Given the description of an element on the screen output the (x, y) to click on. 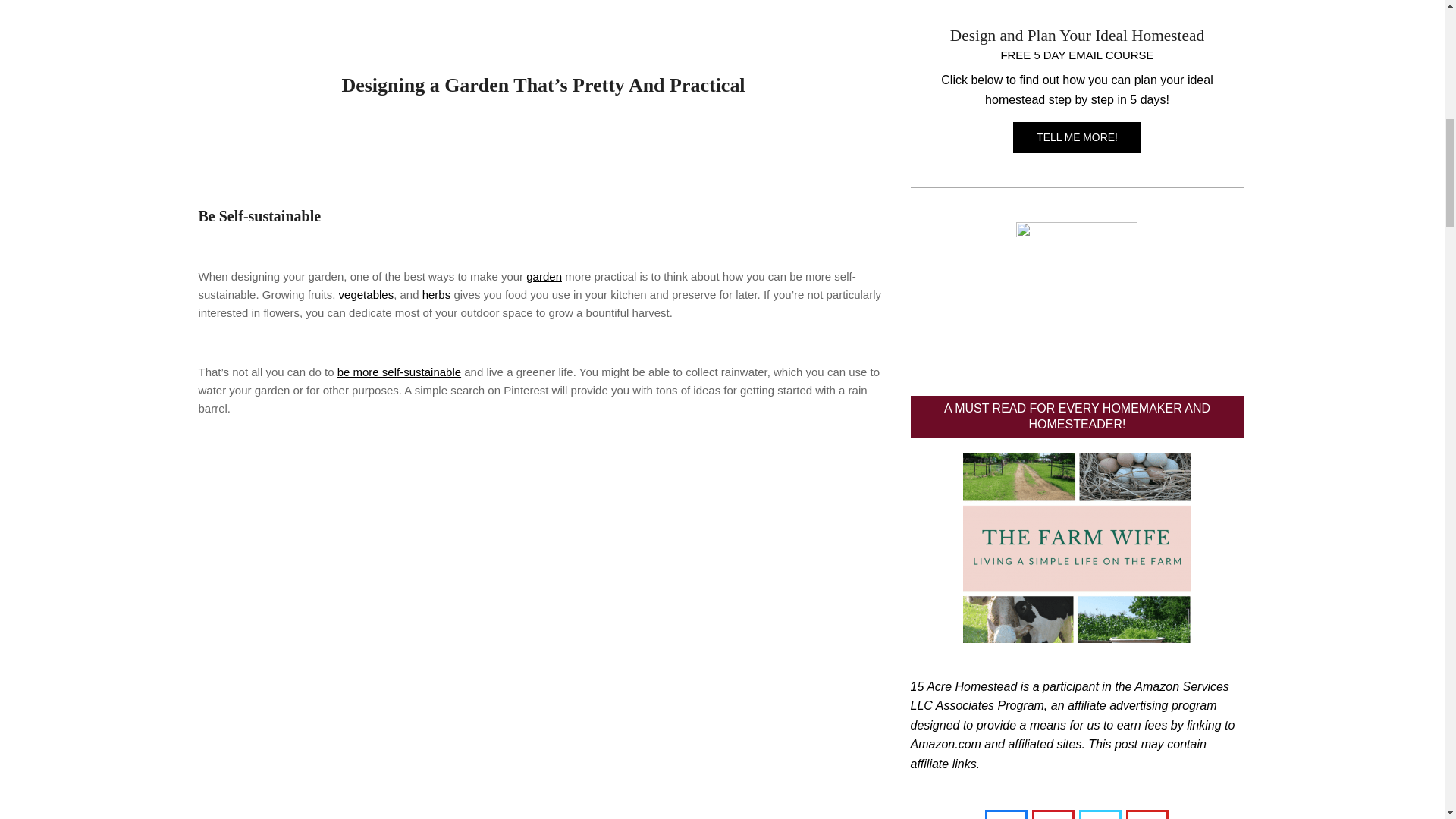
A must read for every homemaker and homesteader! (1076, 547)
vegetables (366, 294)
garden (543, 276)
herbs (436, 294)
be more self-sustainable (399, 371)
